Given the description of an element on the screen output the (x, y) to click on. 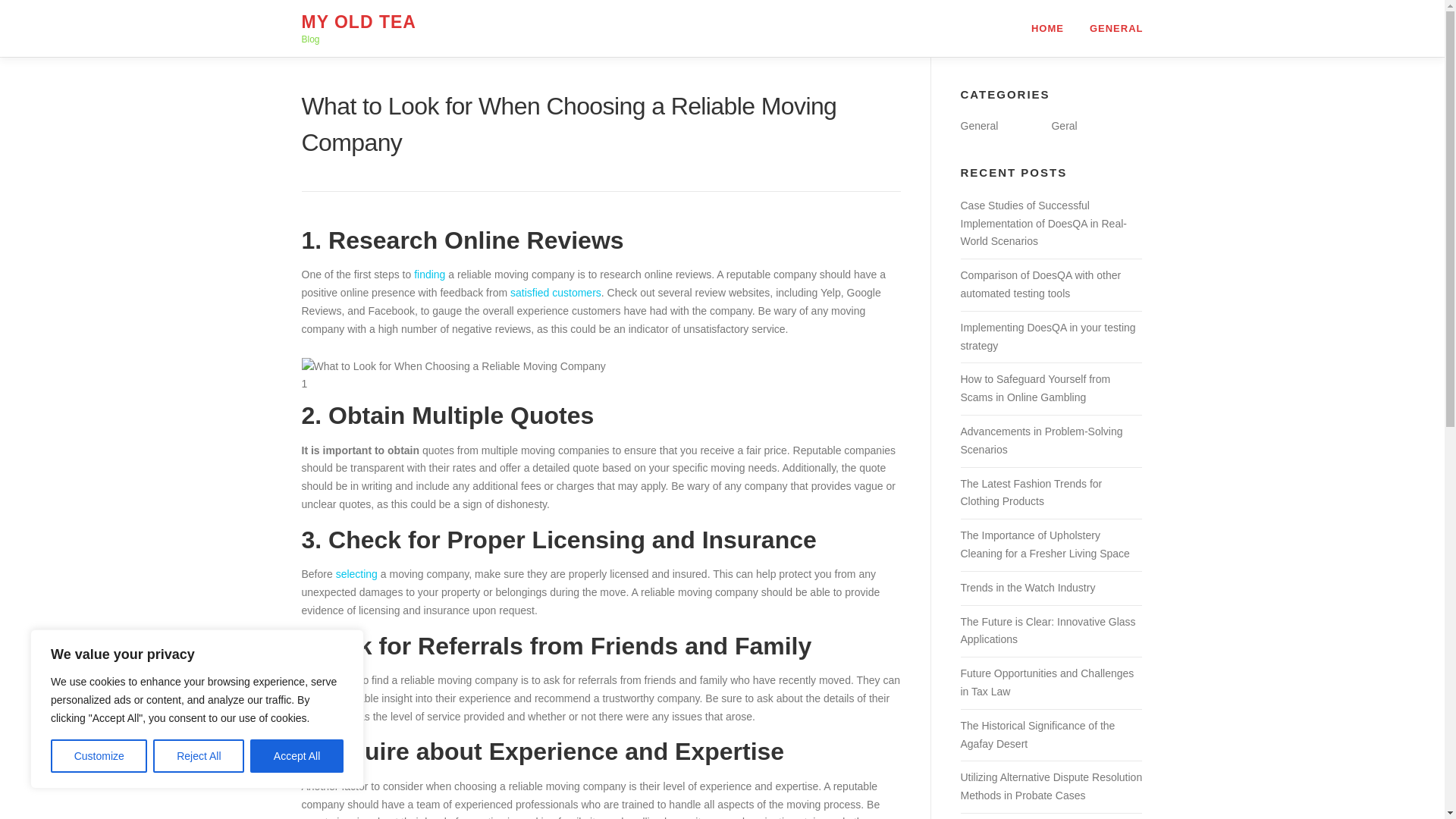
The Latest Fashion Trends for Clothing Products (1030, 492)
Geral (1064, 125)
finding (429, 274)
Reject All (198, 756)
HOME (1047, 28)
Implementing DoesQA in your testing strategy (1047, 336)
How to Safeguard Yourself from Scams in Online Gambling (1034, 388)
satisfied customers (556, 292)
GENERAL (1109, 28)
Accept All (296, 756)
Comparison of DoesQA with other automated testing tools (1040, 284)
selecting (356, 573)
General (978, 125)
